Given the description of an element on the screen output the (x, y) to click on. 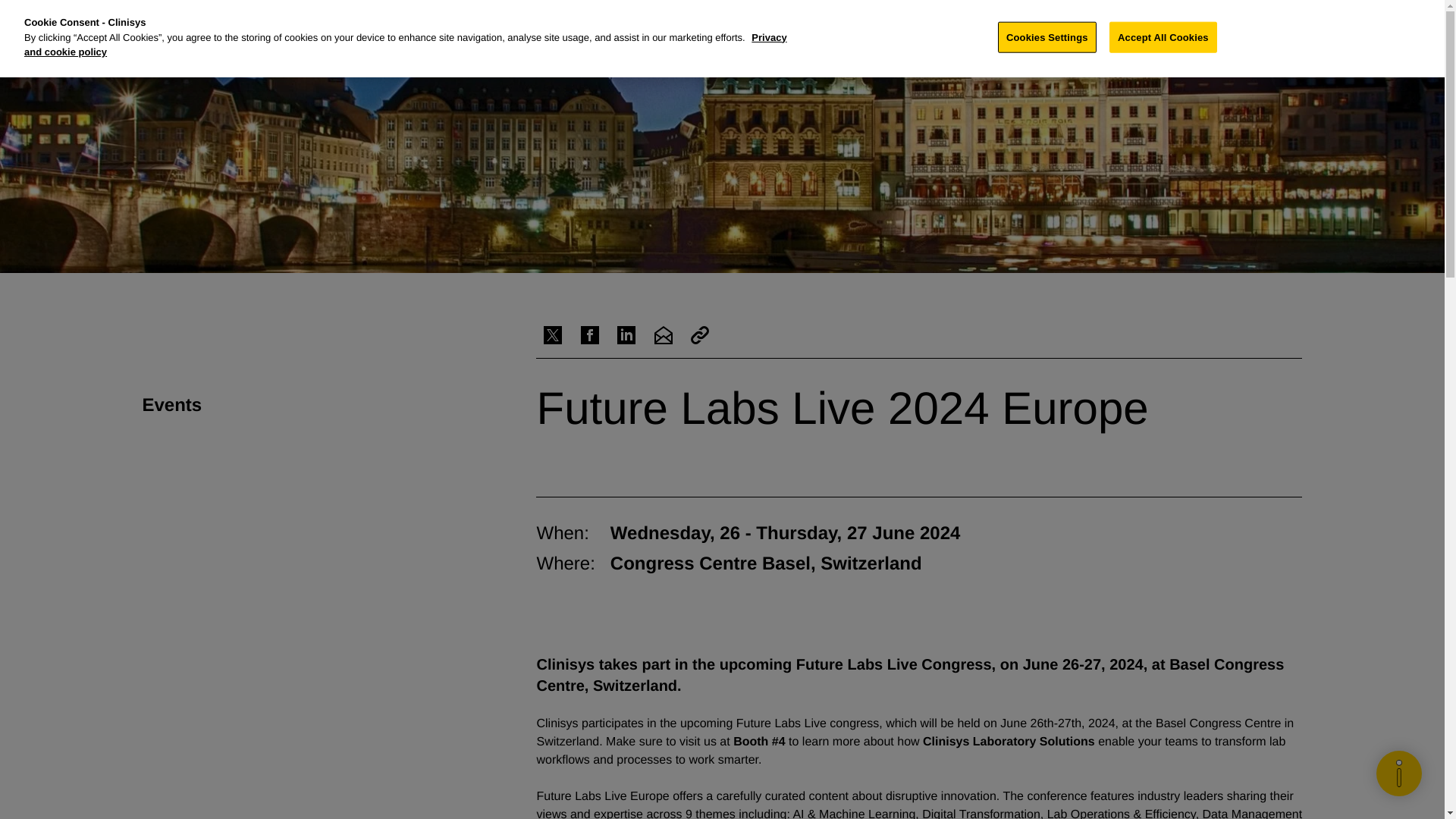
Solutions (658, 22)
Copy link (699, 335)
Share via email (662, 335)
Share on Linkedin (626, 335)
Platform (728, 22)
Share on Facebook (590, 335)
Share on Twitter (552, 335)
